Given the description of an element on the screen output the (x, y) to click on. 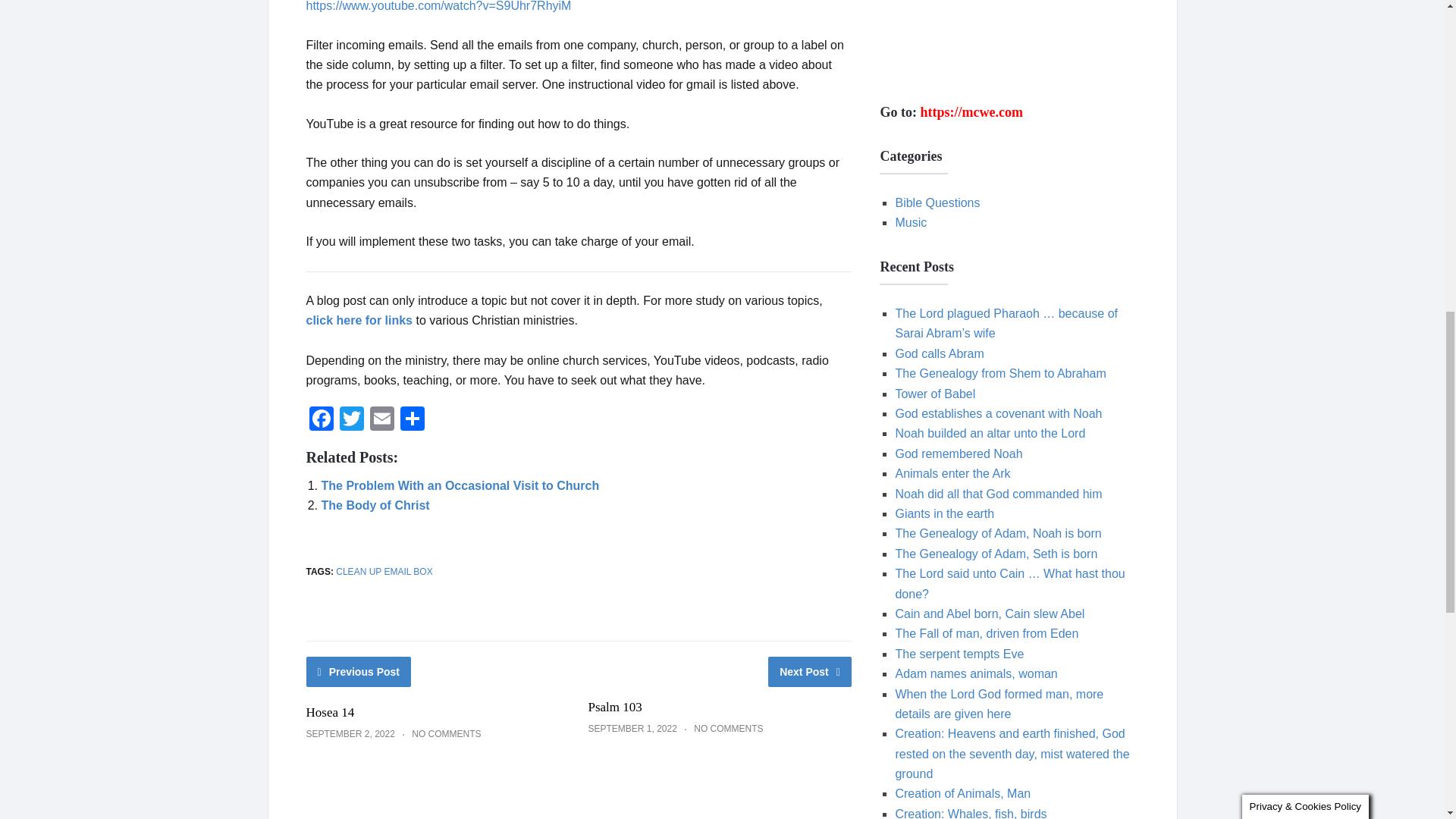
Psalm 103 (615, 707)
NO COMMENTS (446, 733)
Twitter (351, 420)
Next Post (809, 671)
Hosea 14 (330, 712)
Share (412, 420)
Facebook (320, 420)
Email (381, 420)
Email (381, 420)
NO COMMENTS (728, 728)
The Body of Christ (375, 504)
The Problem With an Occasional Visit to Church (460, 485)
The Problem With an Occasional Visit to Church (460, 485)
Facebook (320, 420)
Previous Post (358, 671)
